Given the description of an element on the screen output the (x, y) to click on. 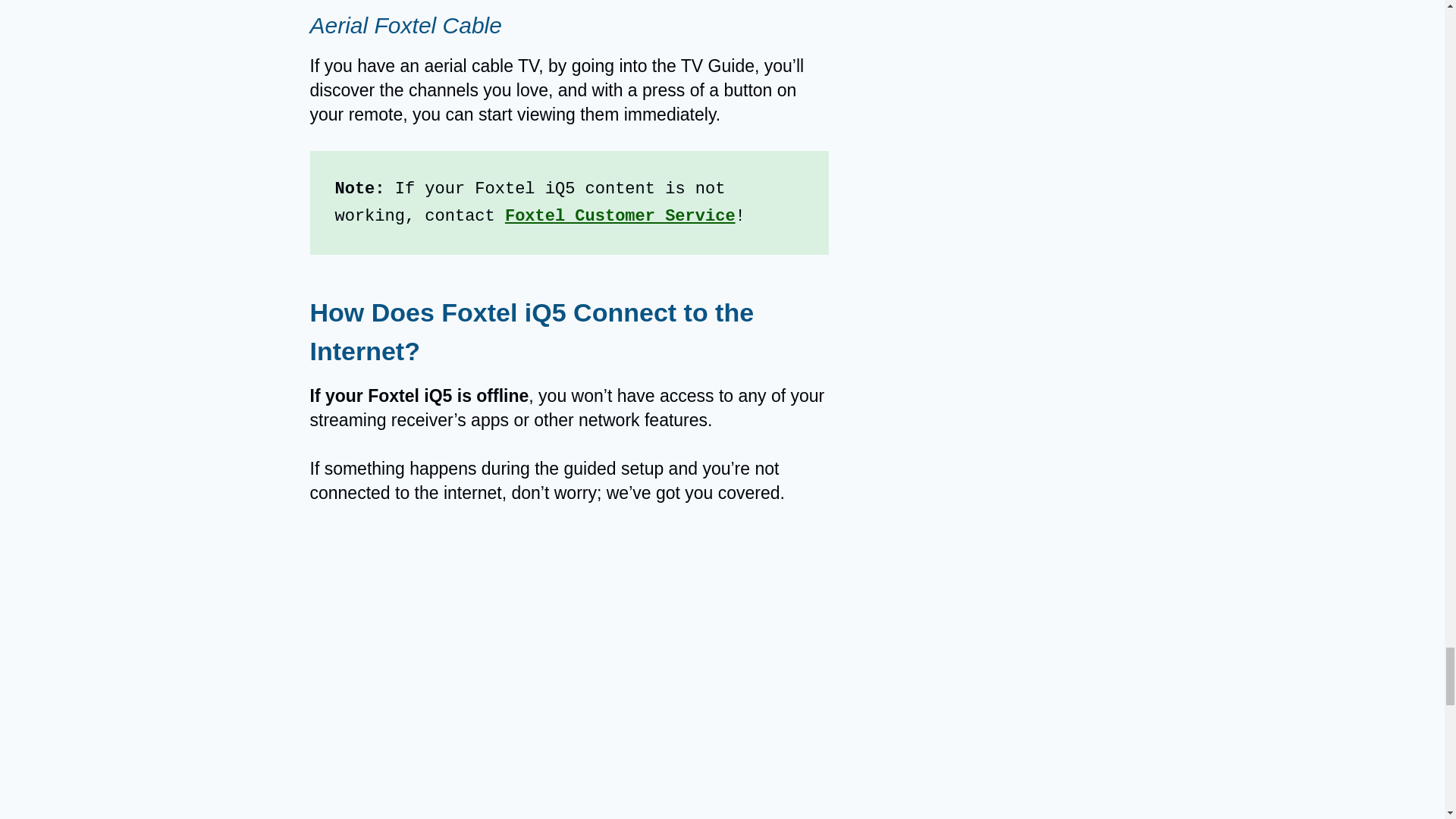
Foxtel Customer Service (620, 216)
